Given the description of an element on the screen output the (x, y) to click on. 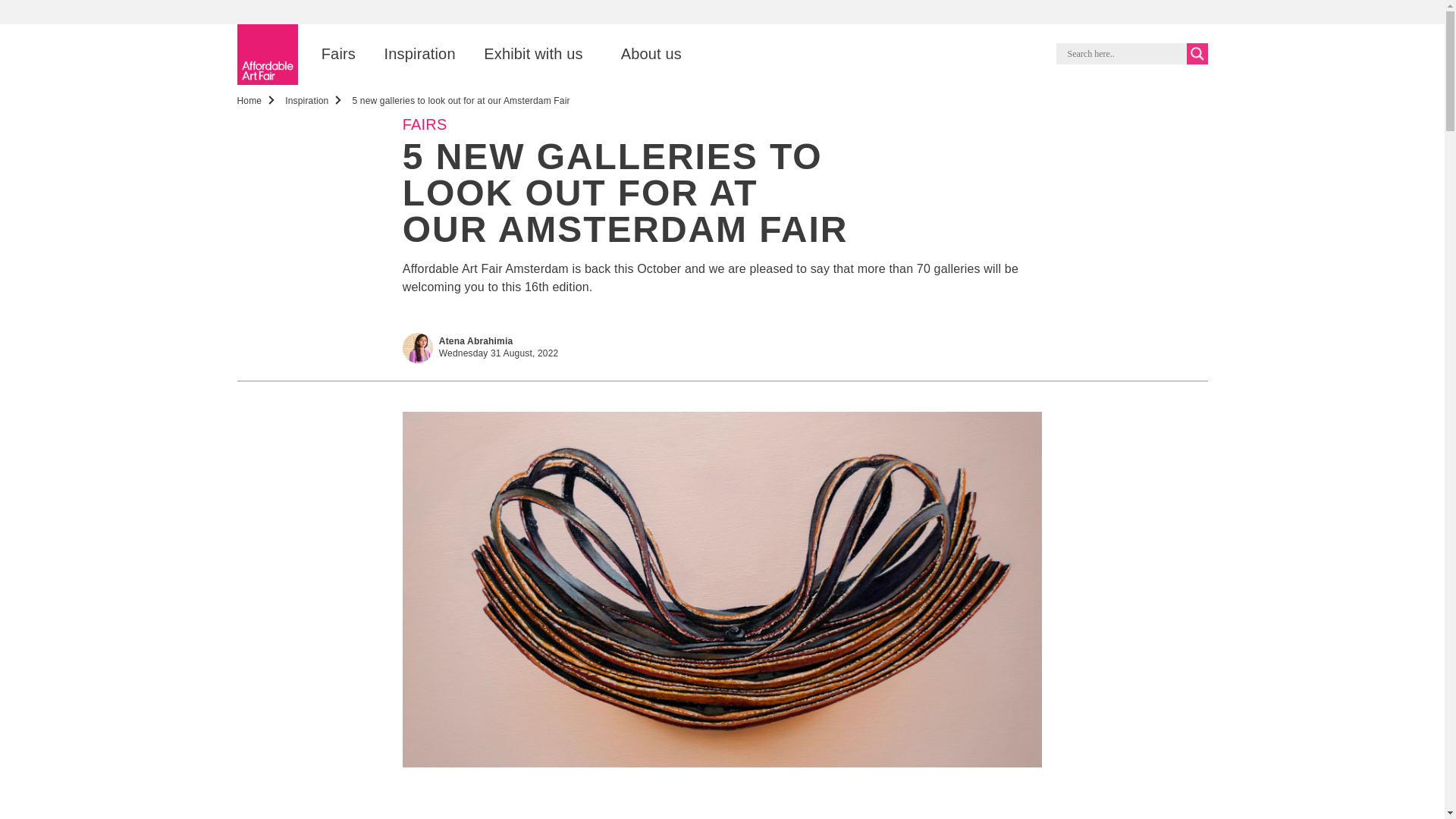
Inspiration (398, 53)
About us (629, 53)
Home (248, 100)
5 new galleries to look out for at our Amsterdam Fair (460, 100)
Fairs (317, 53)
Inspiration (307, 100)
Exhibit with us (511, 53)
